Given the description of an element on the screen output the (x, y) to click on. 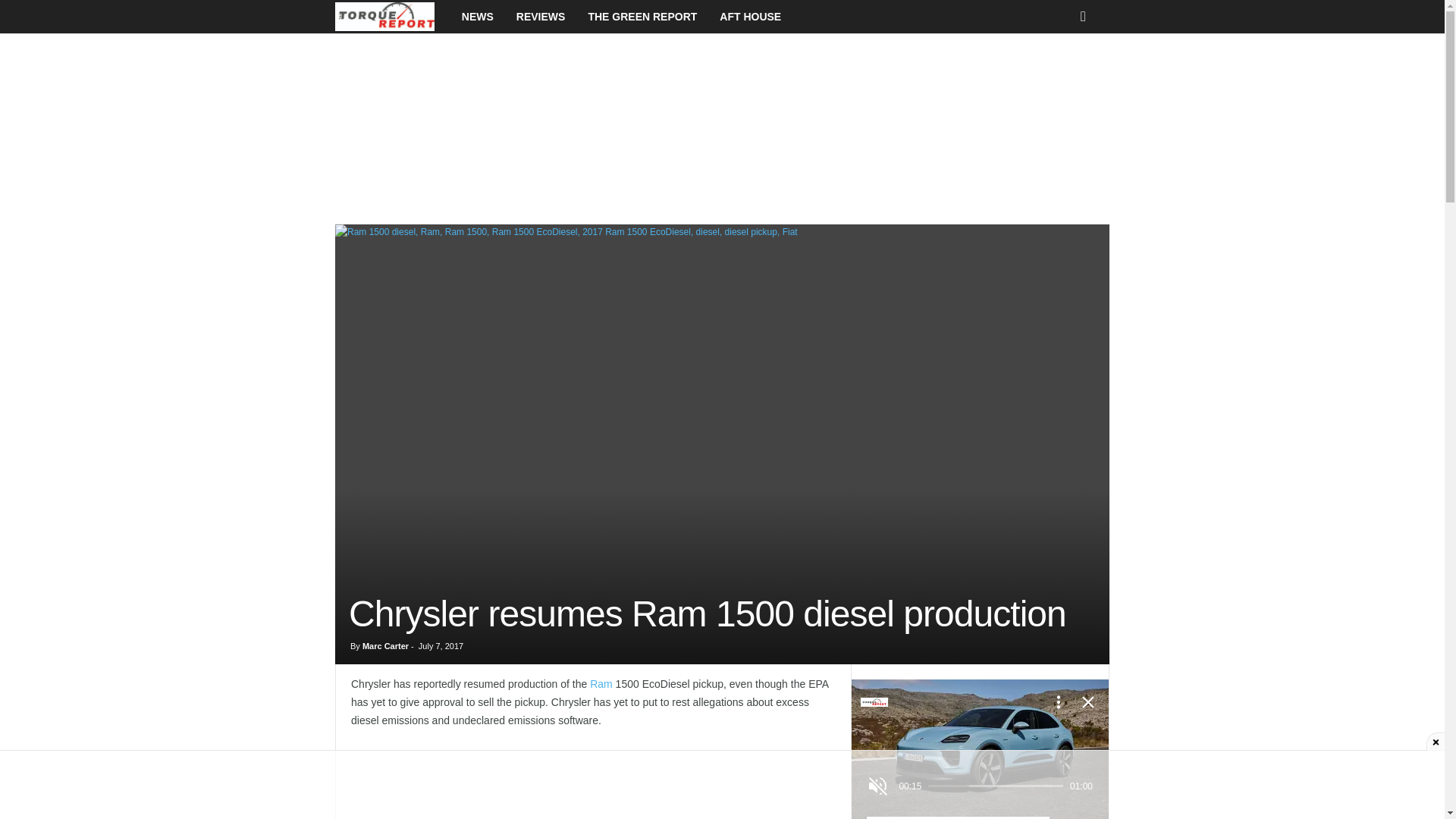
3rd party ad content (721, 785)
Ram (600, 684)
AFT HOUSE (749, 16)
NEWS (477, 16)
REVIEWS (540, 16)
3rd party ad content (593, 783)
The Torque Report (391, 17)
Marc Carter (385, 645)
THE GREEN REPORT (641, 16)
